Given the description of an element on the screen output the (x, y) to click on. 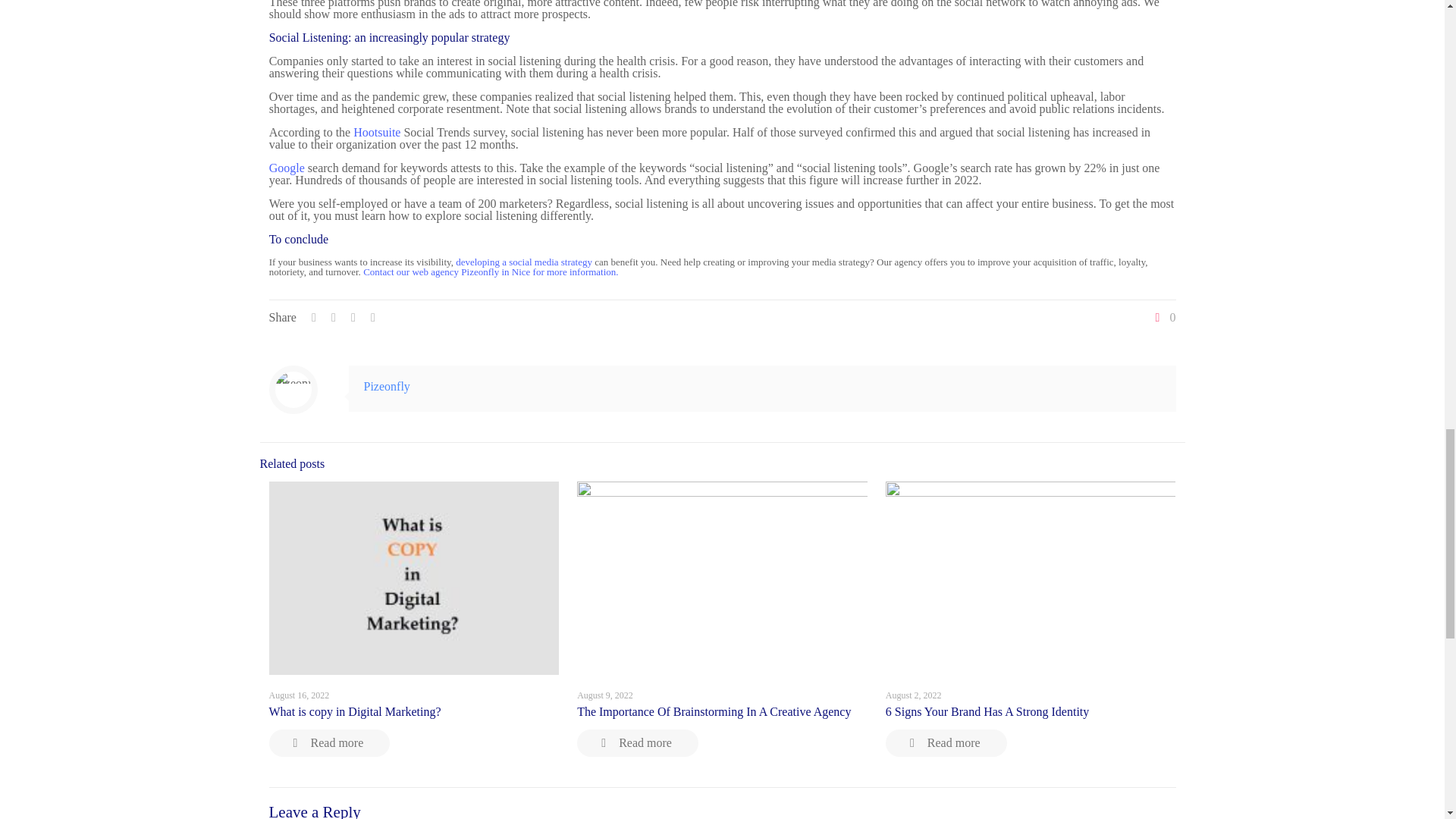
Hootsuite (376, 132)
Google (286, 167)
developing a social media strategy (523, 261)
